Given the description of an element on the screen output the (x, y) to click on. 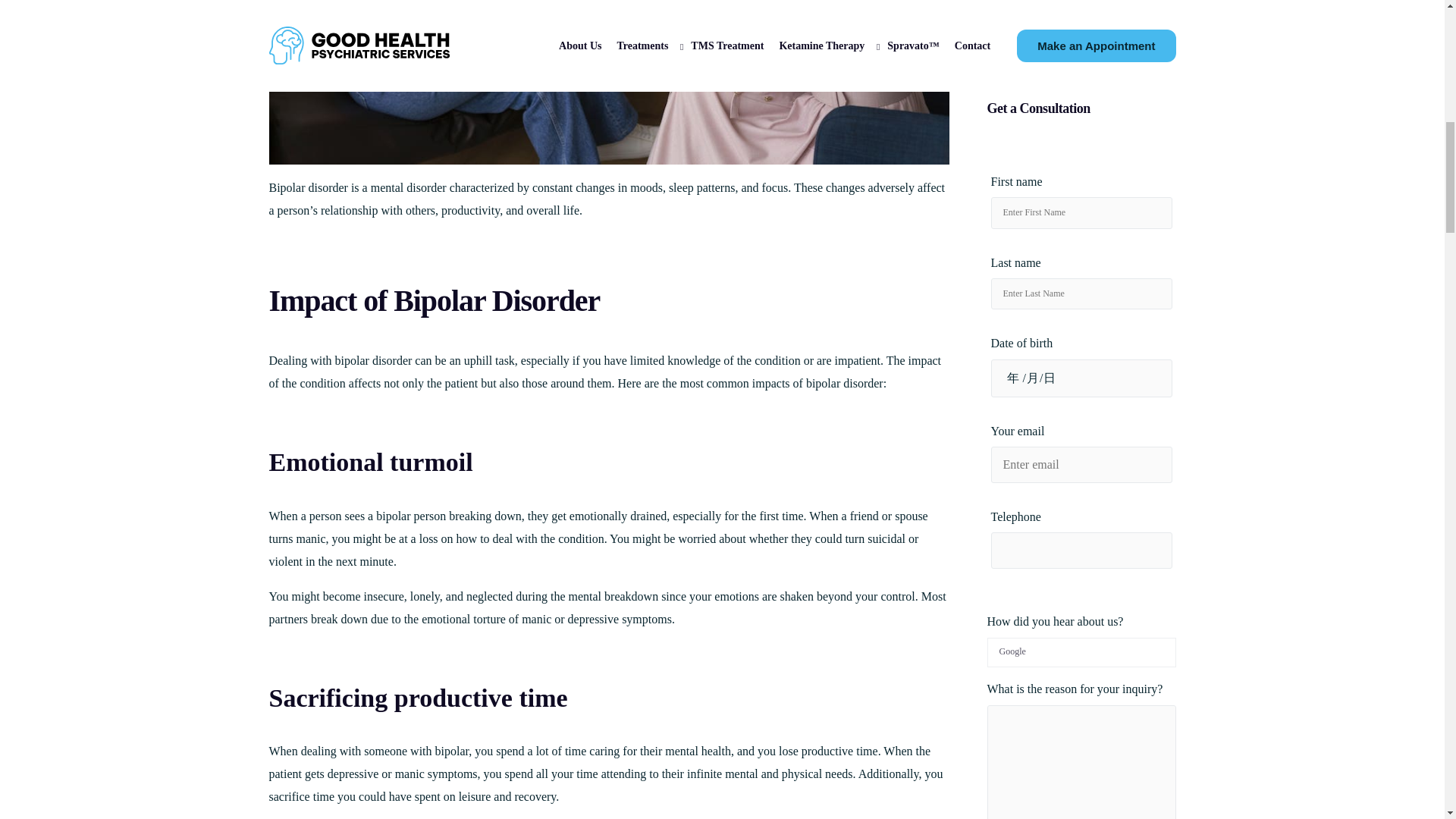
Submit (1036, 657)
Submit (1036, 657)
Terms and conditions (1069, 598)
